Given the description of an element on the screen output the (x, y) to click on. 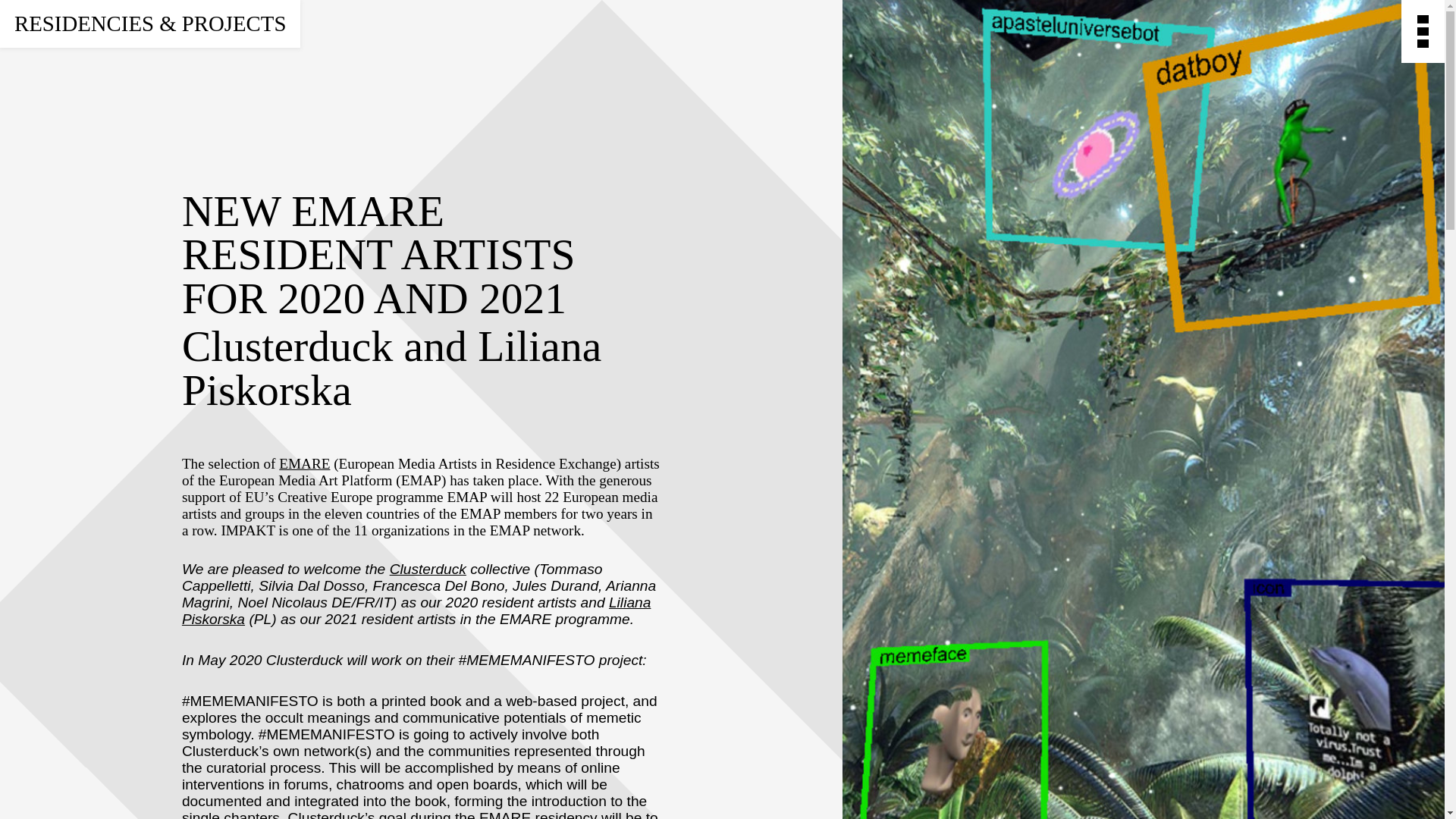
EMARE (304, 463)
Clusterduck (427, 569)
Liliana Piskorska (416, 610)
